Given the description of an element on the screen output the (x, y) to click on. 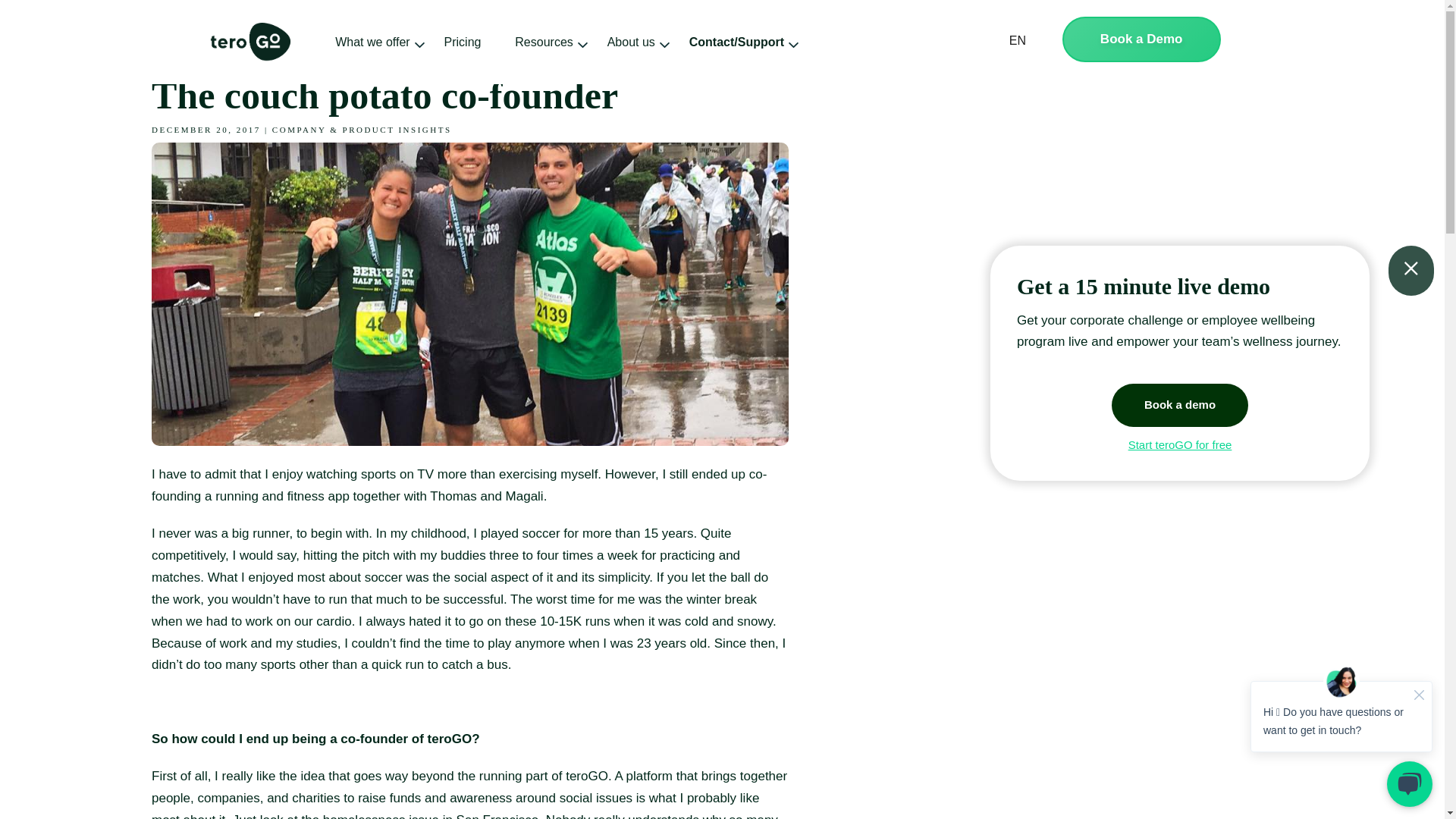
Resources (543, 41)
What we offer (371, 41)
About us (631, 41)
EN (1012, 40)
Pricing (462, 41)
Book a Demo (1141, 39)
English (1012, 40)
